Given the description of an element on the screen output the (x, y) to click on. 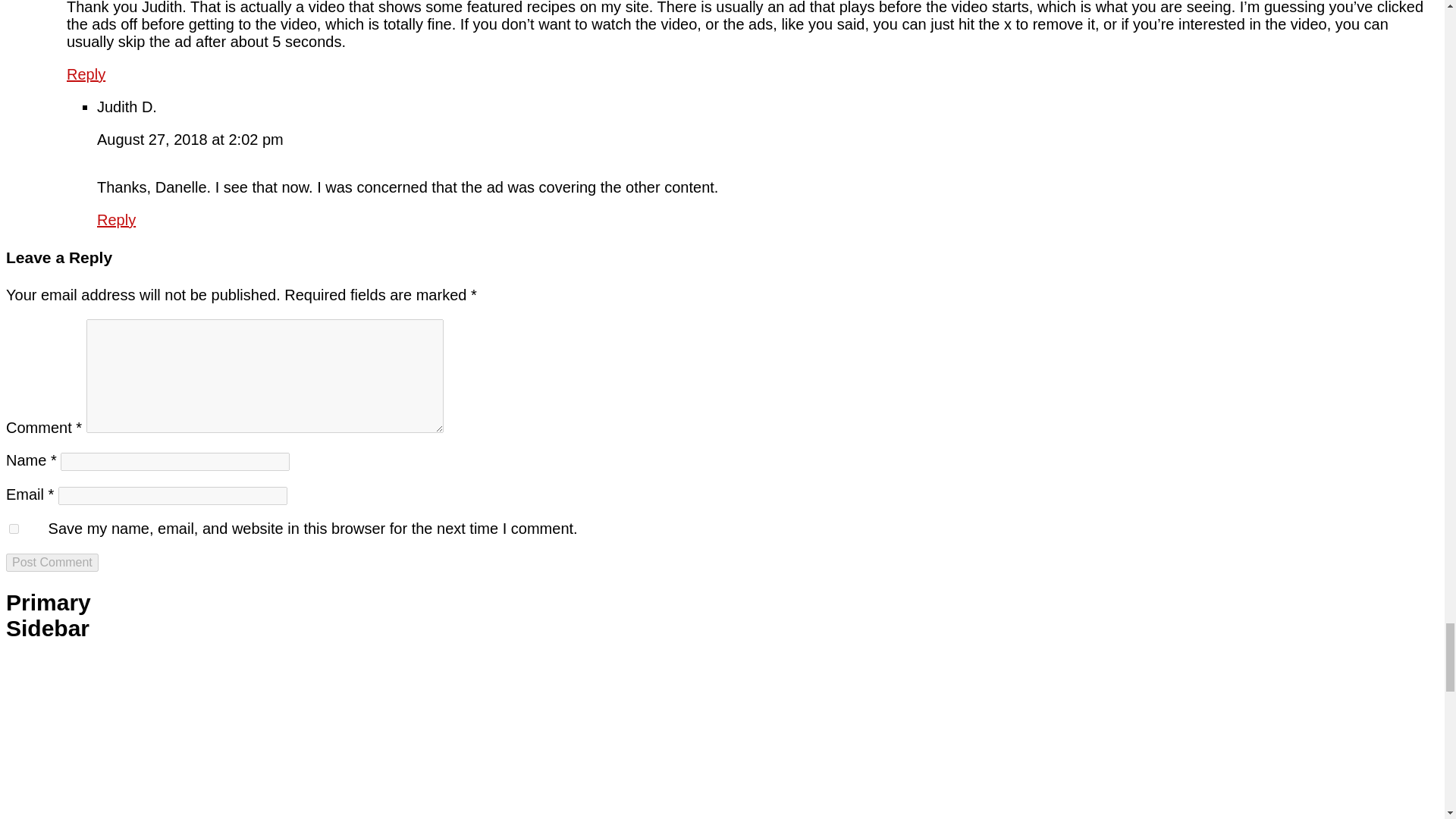
Post Comment (52, 562)
yes (13, 528)
